Given the description of an element on the screen output the (x, y) to click on. 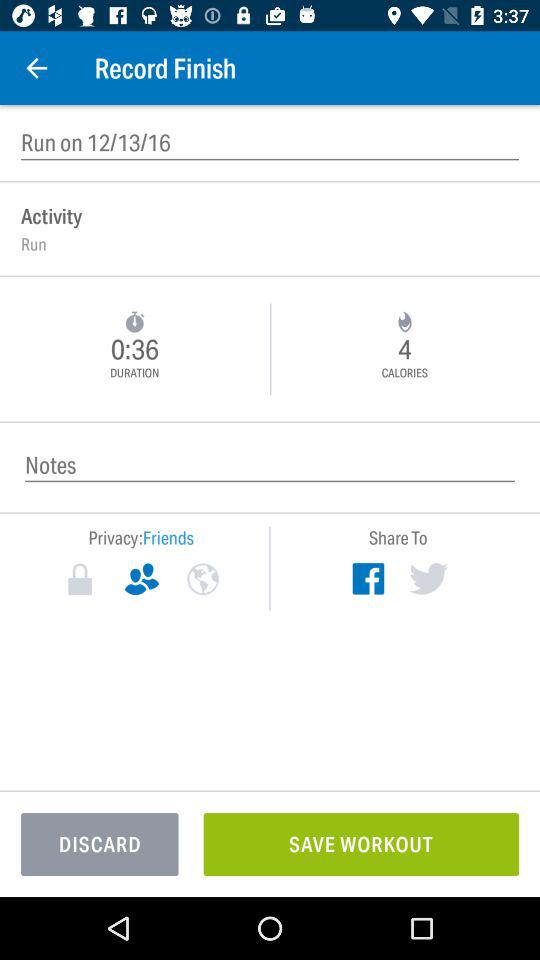
turn on the item below the friends (202, 579)
